Given the description of an element on the screen output the (x, y) to click on. 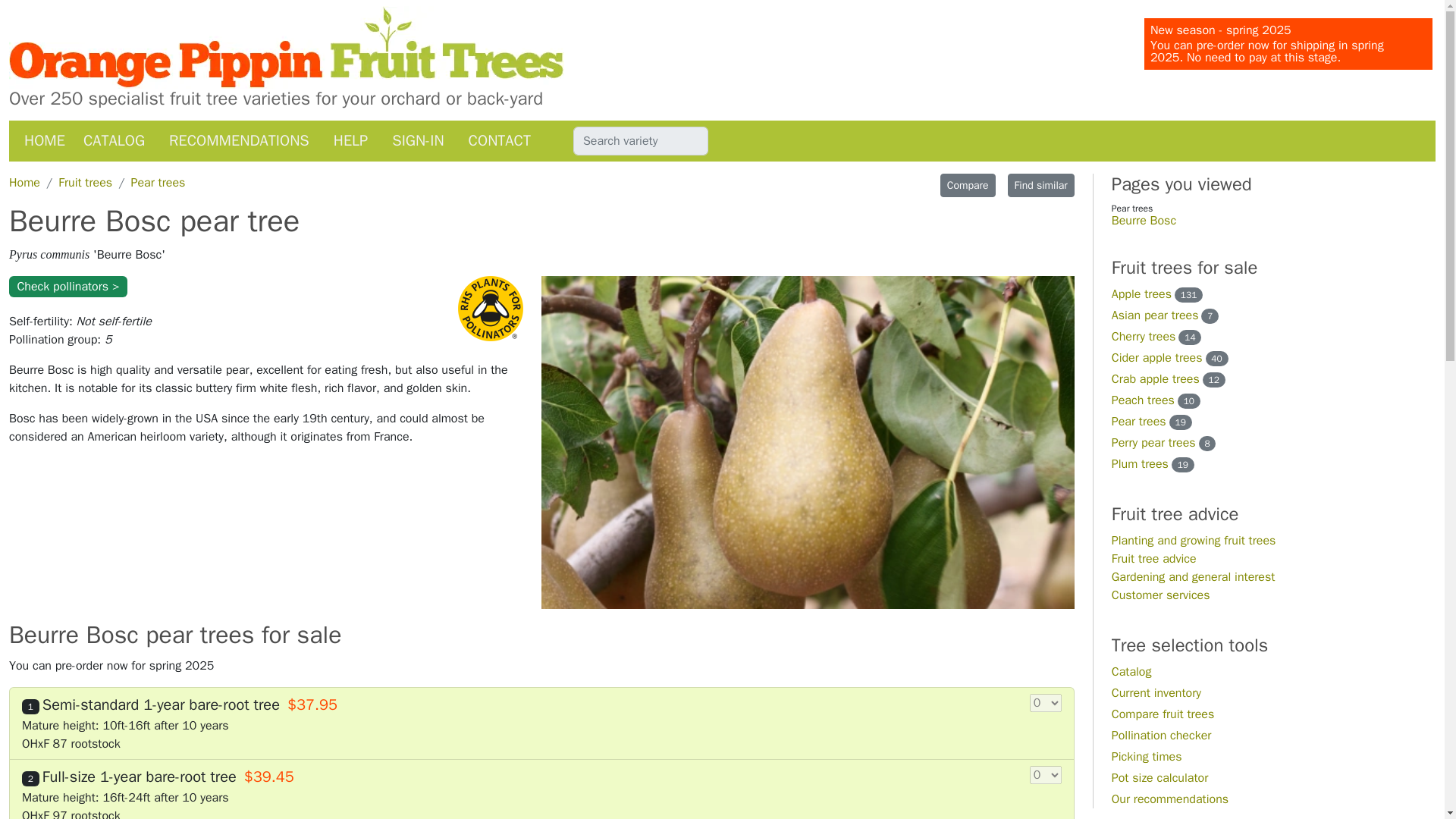
Compare the attributes of different fruit tree varieties. (1163, 713)
Plum trees (1140, 463)
Pot size calculator (1160, 777)
A listing of all the trees currently in stock. (1156, 693)
List varieties with similar characteristics to this one (1040, 185)
Compare (967, 185)
Our recommendations (1170, 798)
Apple trees (1142, 294)
Pollination checker (1161, 735)
Pear trees (1139, 421)
